Given the description of an element on the screen output the (x, y) to click on. 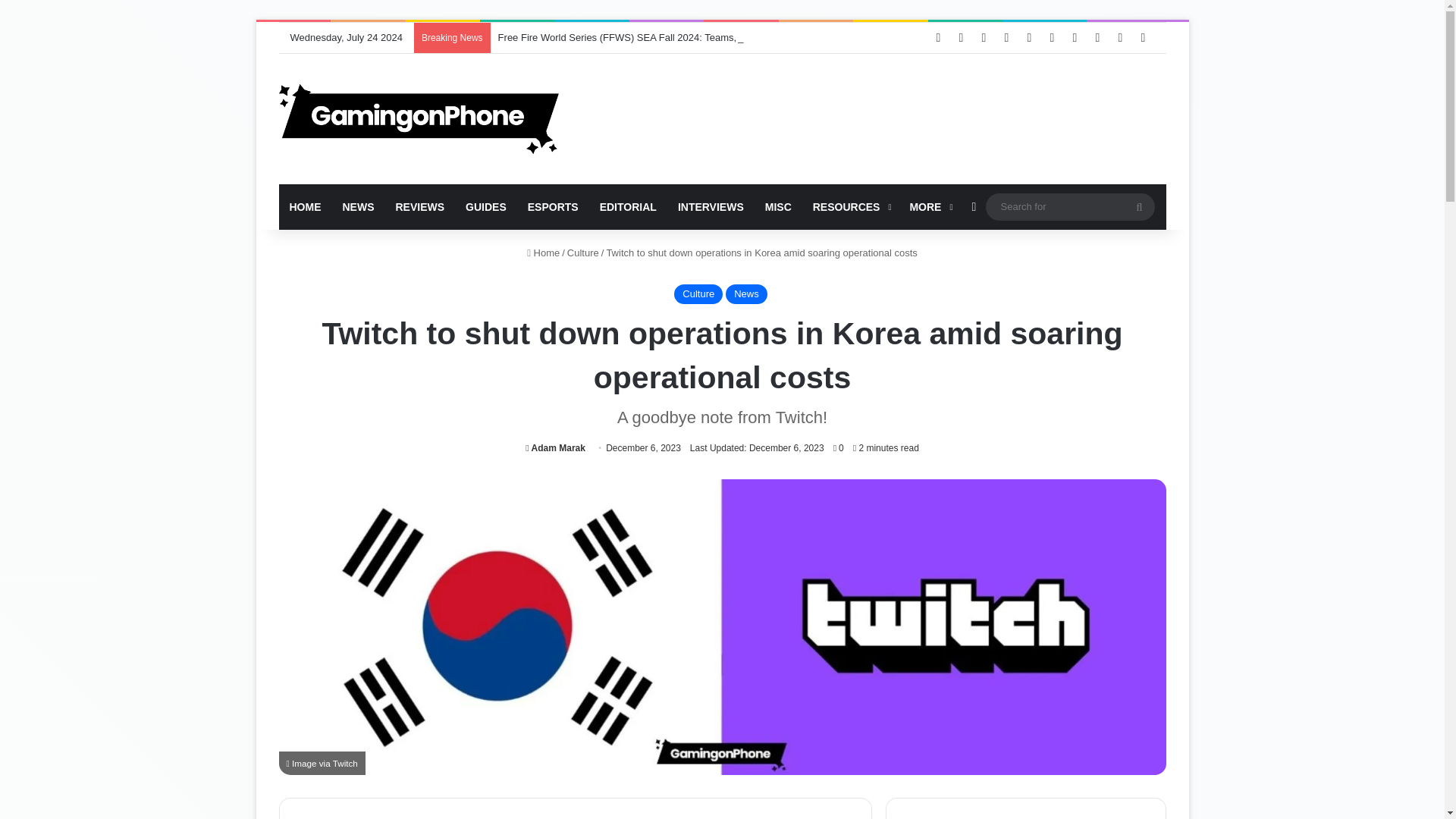
MISC (778, 207)
GamingonPhone (419, 118)
MORE (928, 207)
Search for (1139, 206)
EDITORIAL (627, 207)
RESOURCES (850, 207)
REVIEWS (420, 207)
Adam Marak (555, 448)
Culture (582, 252)
NEWS (358, 207)
GUIDES (485, 207)
Search for (1069, 206)
ESPORTS (552, 207)
Home (543, 252)
INTERVIEWS (710, 207)
